Given the description of an element on the screen output the (x, y) to click on. 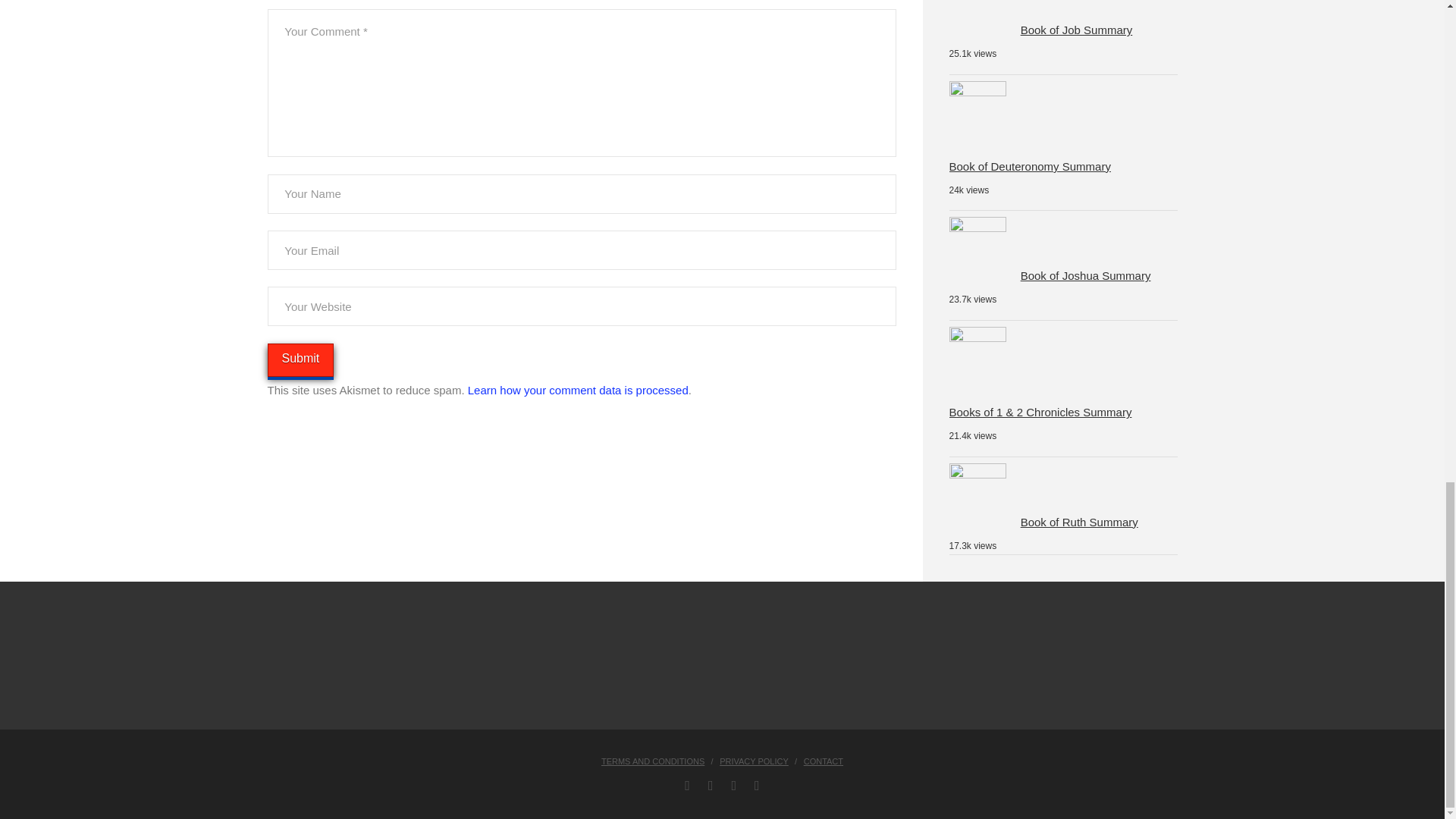
Submit (299, 360)
Learn how your comment data is processed (577, 390)
Submit (299, 360)
